Given the description of an element on the screen output the (x, y) to click on. 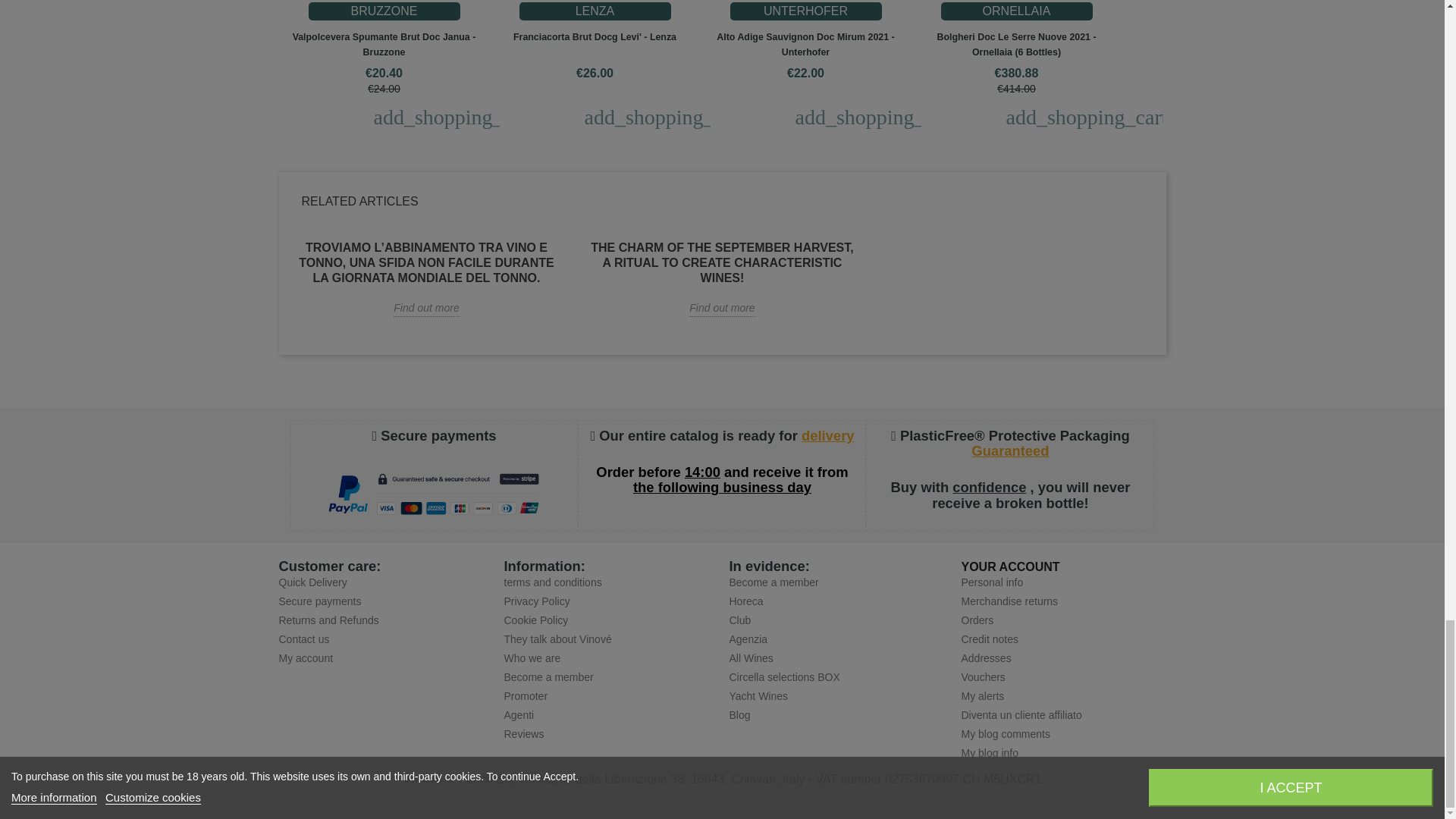
Use our form to contact us (304, 639)
